Given the description of an element on the screen output the (x, y) to click on. 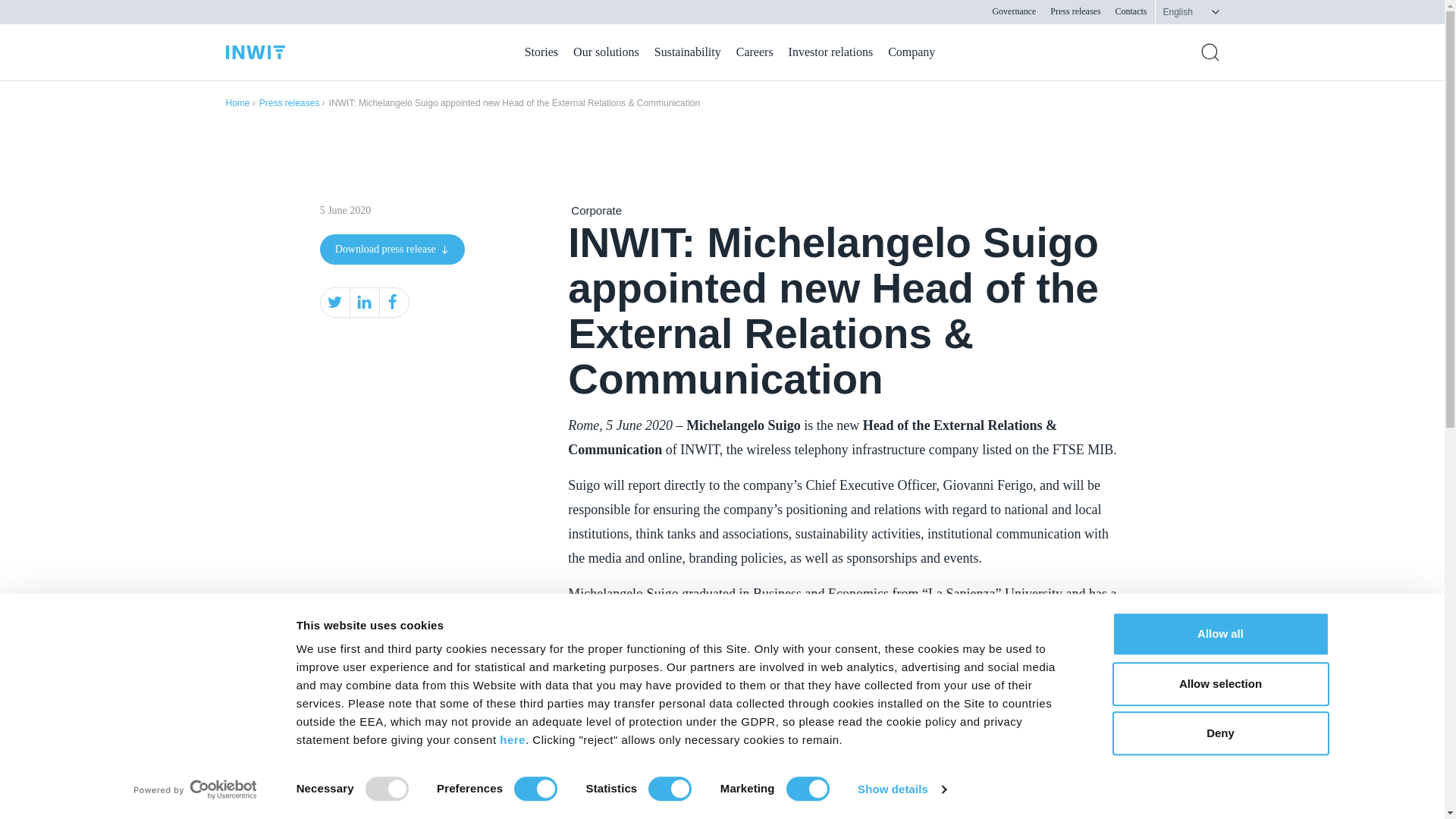
here (512, 739)
Allow selection (1219, 683)
Deny (1219, 733)
Search (1210, 52)
Show details (900, 789)
Allow all (1219, 633)
